Given the description of an element on the screen output the (x, y) to click on. 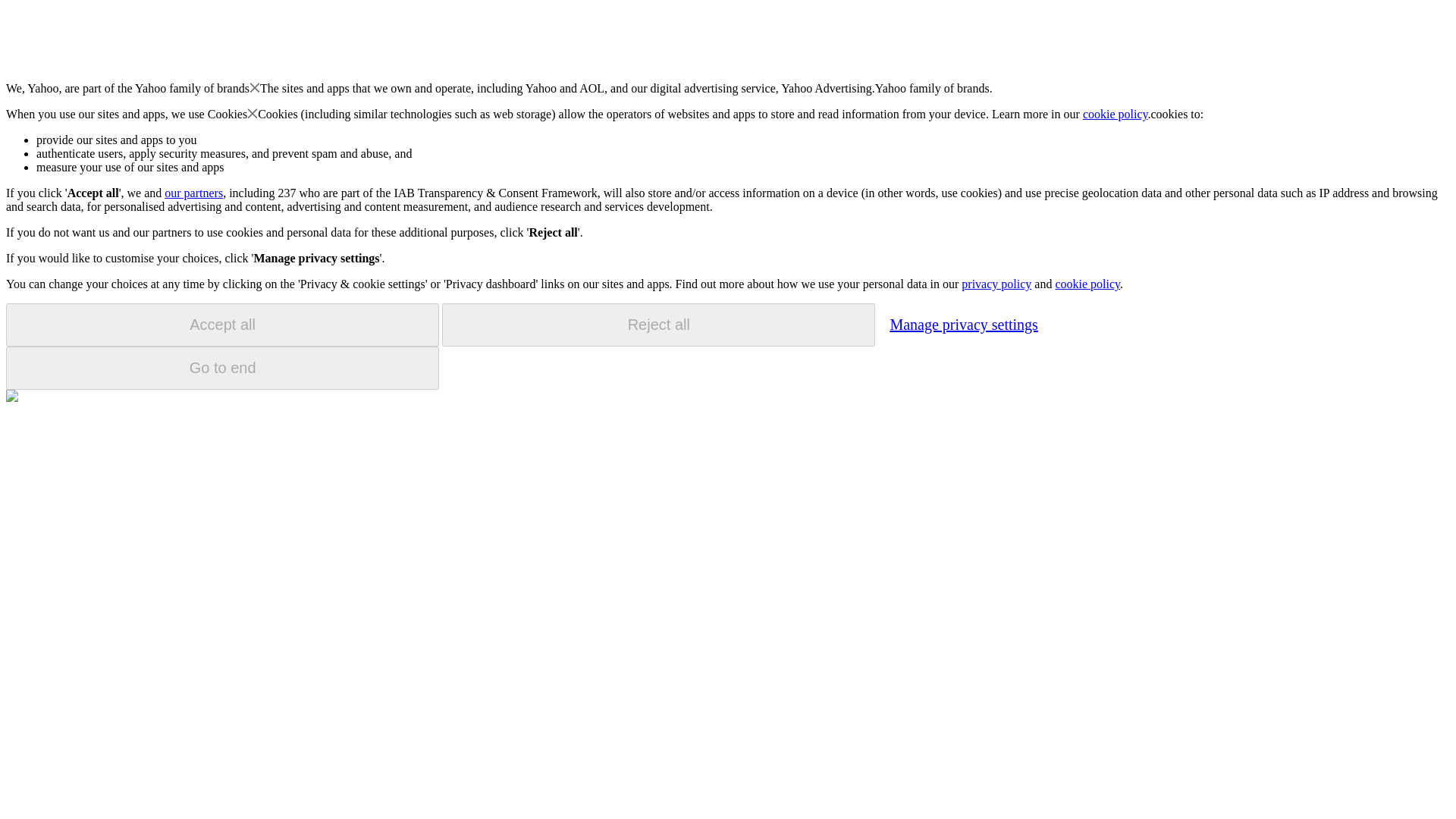
Go to end (222, 367)
cookie policy (1115, 113)
Manage privacy settings (963, 323)
Accept all (222, 324)
our partners (193, 192)
cookie policy (1086, 283)
privacy policy (995, 283)
Reject all (658, 324)
